Given the description of an element on the screen output the (x, y) to click on. 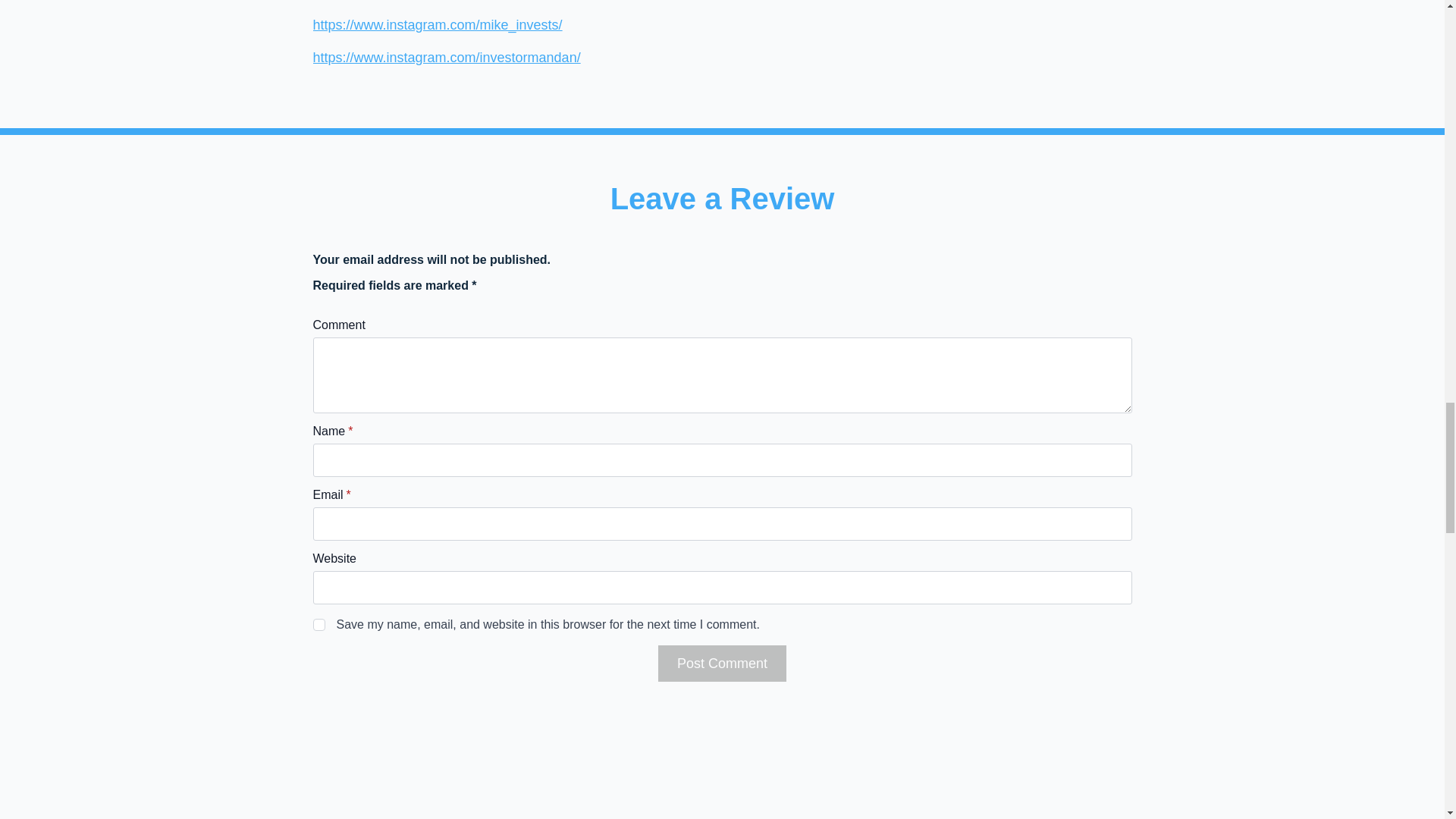
Post Comment (722, 663)
Post Comment (722, 663)
yes (318, 624)
